Given the description of an element on the screen output the (x, y) to click on. 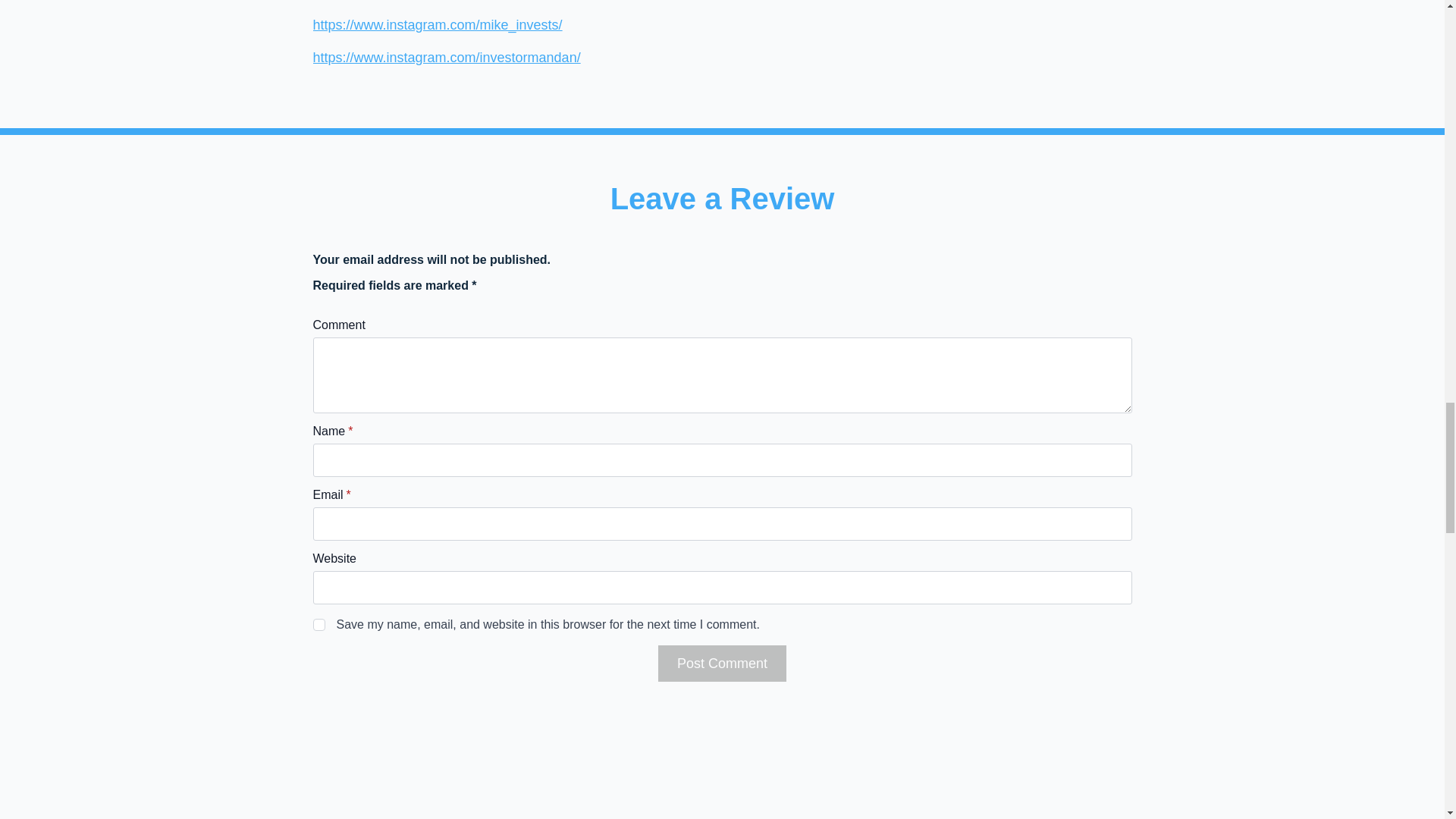
Post Comment (722, 663)
Post Comment (722, 663)
yes (318, 624)
